Given the description of an element on the screen output the (x, y) to click on. 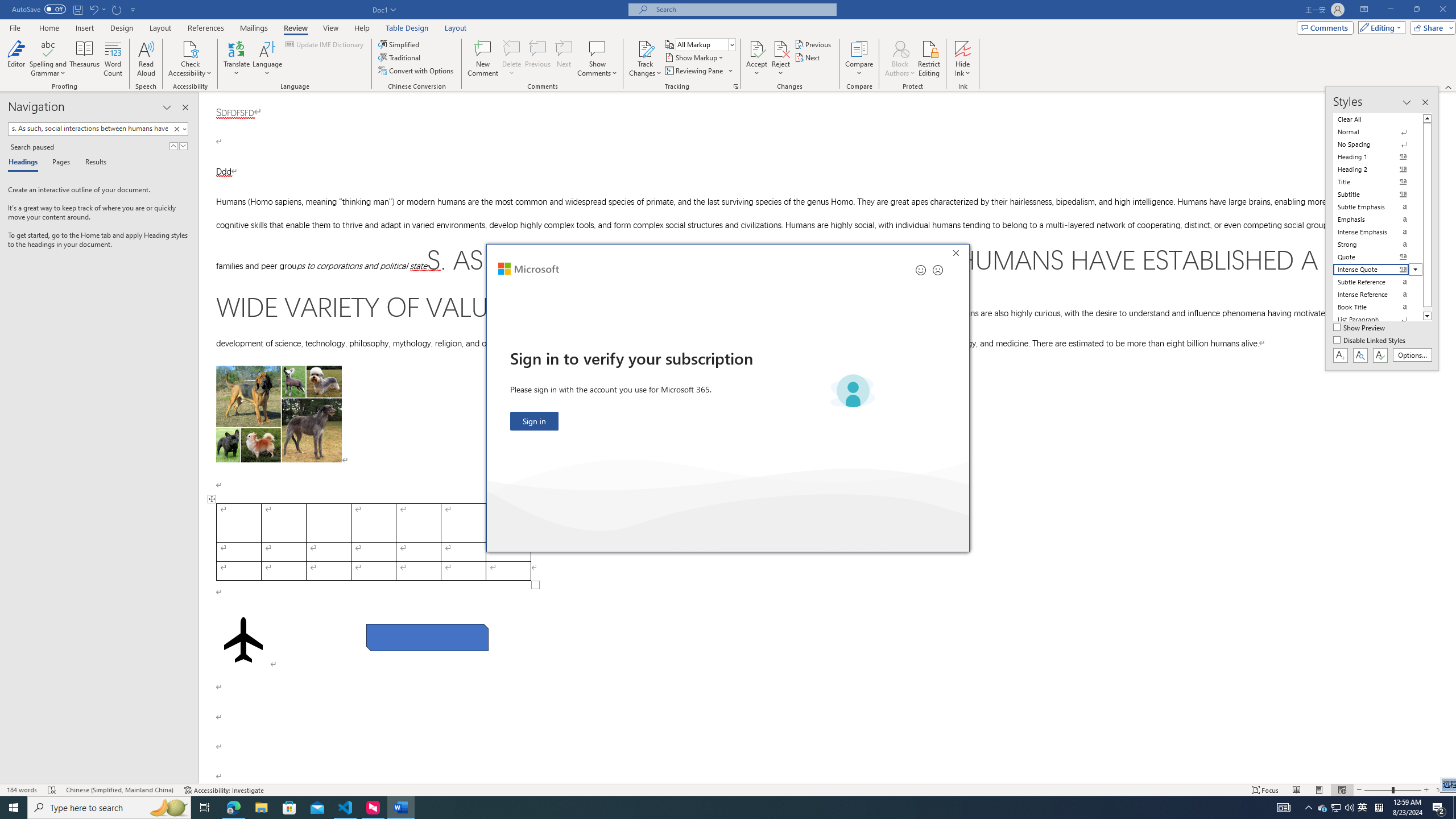
Reject (780, 58)
Show Markup (695, 56)
Check Accessibility (189, 58)
Microsoft Edge - 1 running window (233, 807)
Accept and Move to Next (756, 48)
